Given the description of an element on the screen output the (x, y) to click on. 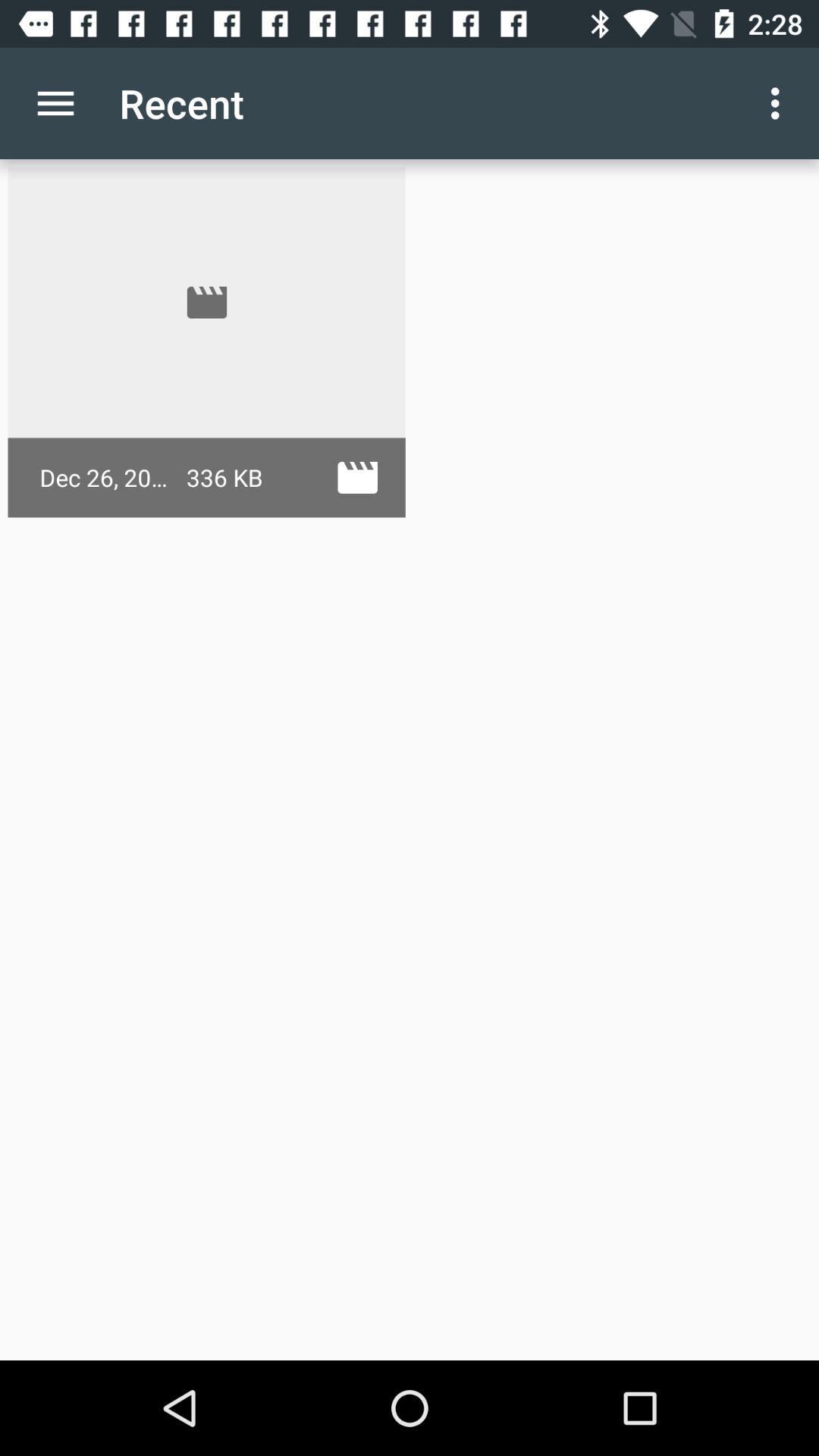
select app next to recent icon (779, 103)
